Given the description of an element on the screen output the (x, y) to click on. 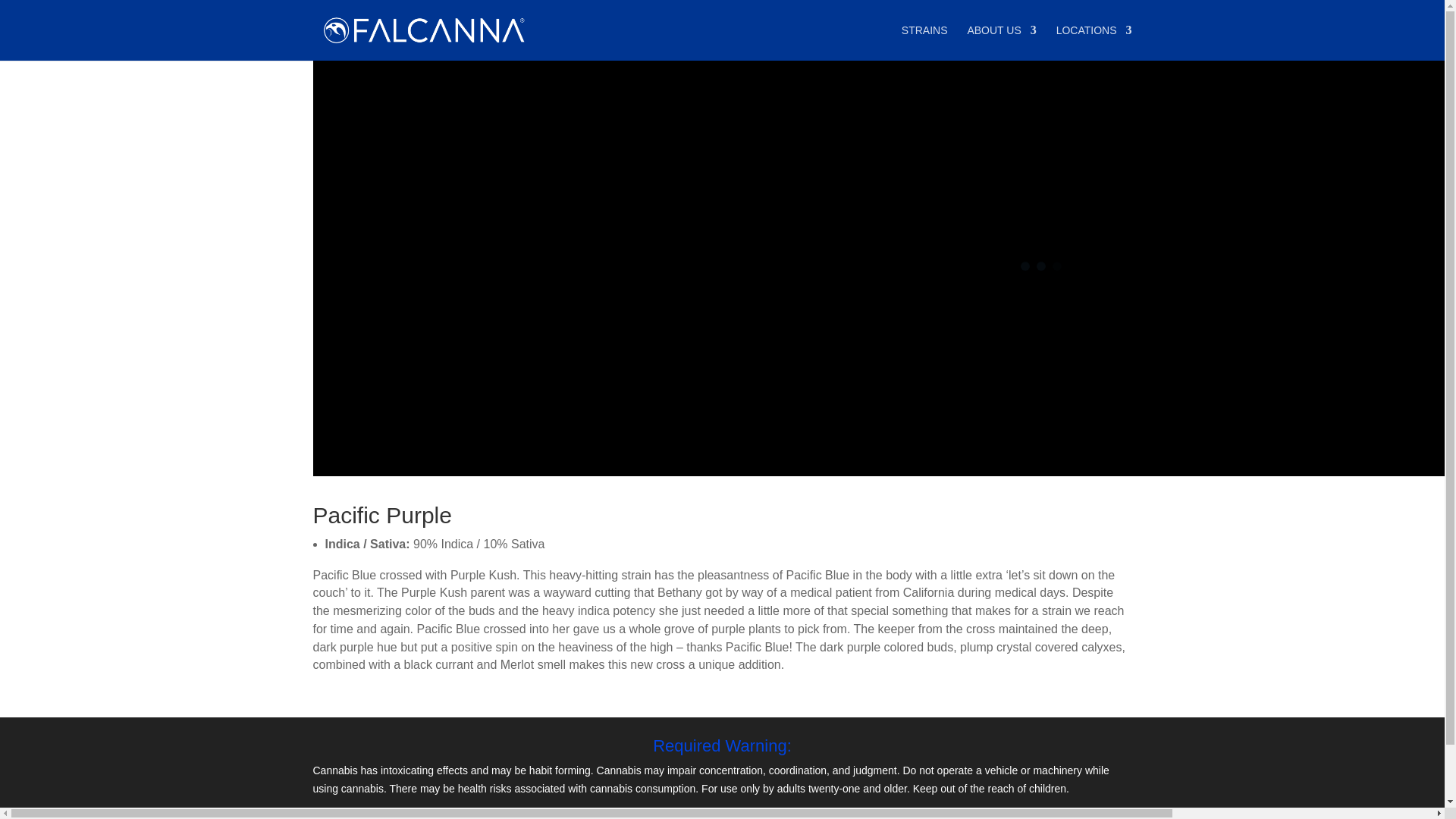
ABOUT US (1000, 42)
LOCATIONS (1094, 42)
STRAINS (924, 42)
